Given the description of an element on the screen output the (x, y) to click on. 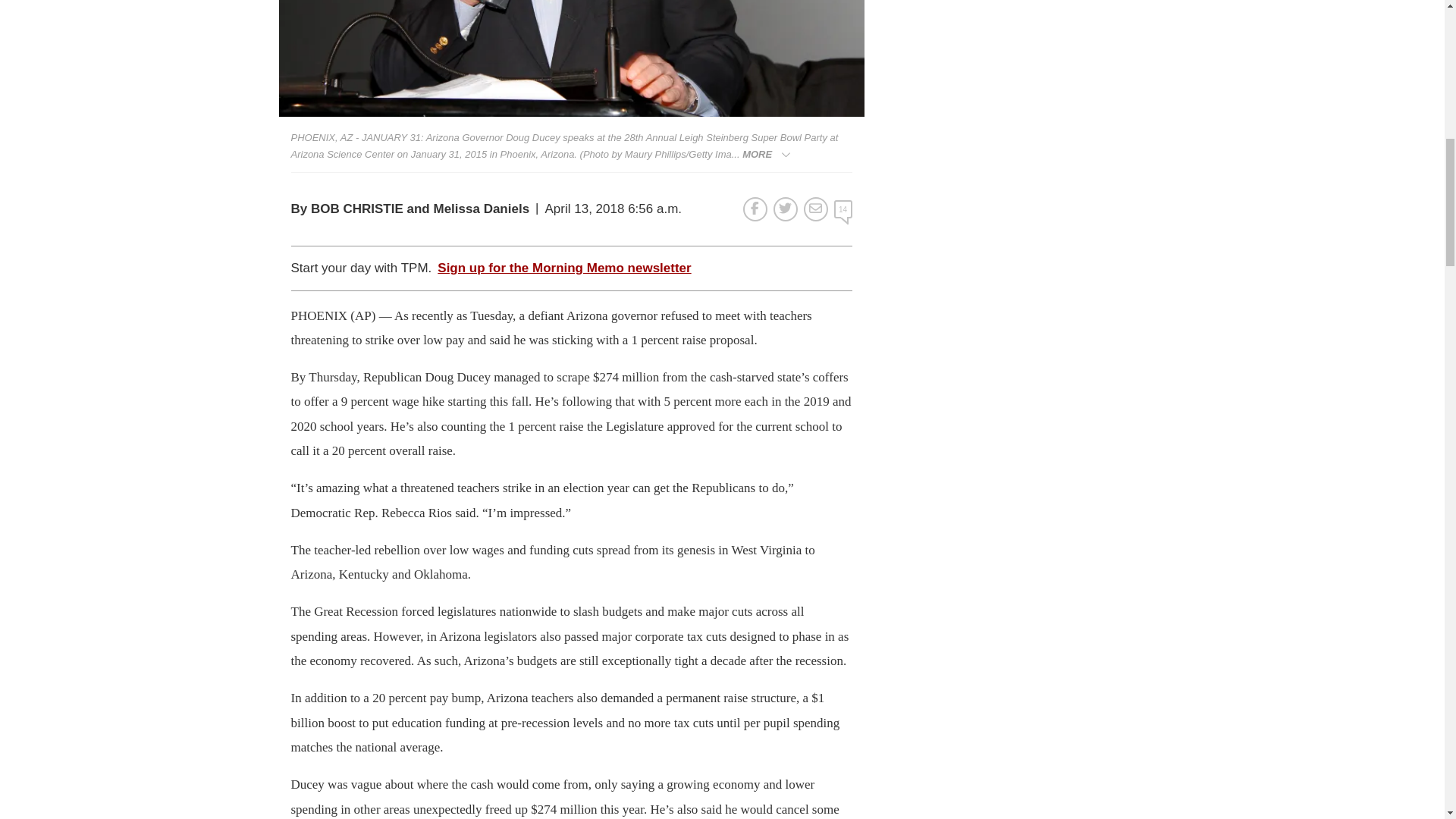
14 (842, 208)
Posts by Melissa Daniels (480, 208)
Melissa Daniels (480, 208)
BOB CHRISTIE (357, 208)
Sign up for the Morning Memo newsletter (564, 268)
Posts by BOB CHRISTIE (357, 208)
